Given the description of an element on the screen output the (x, y) to click on. 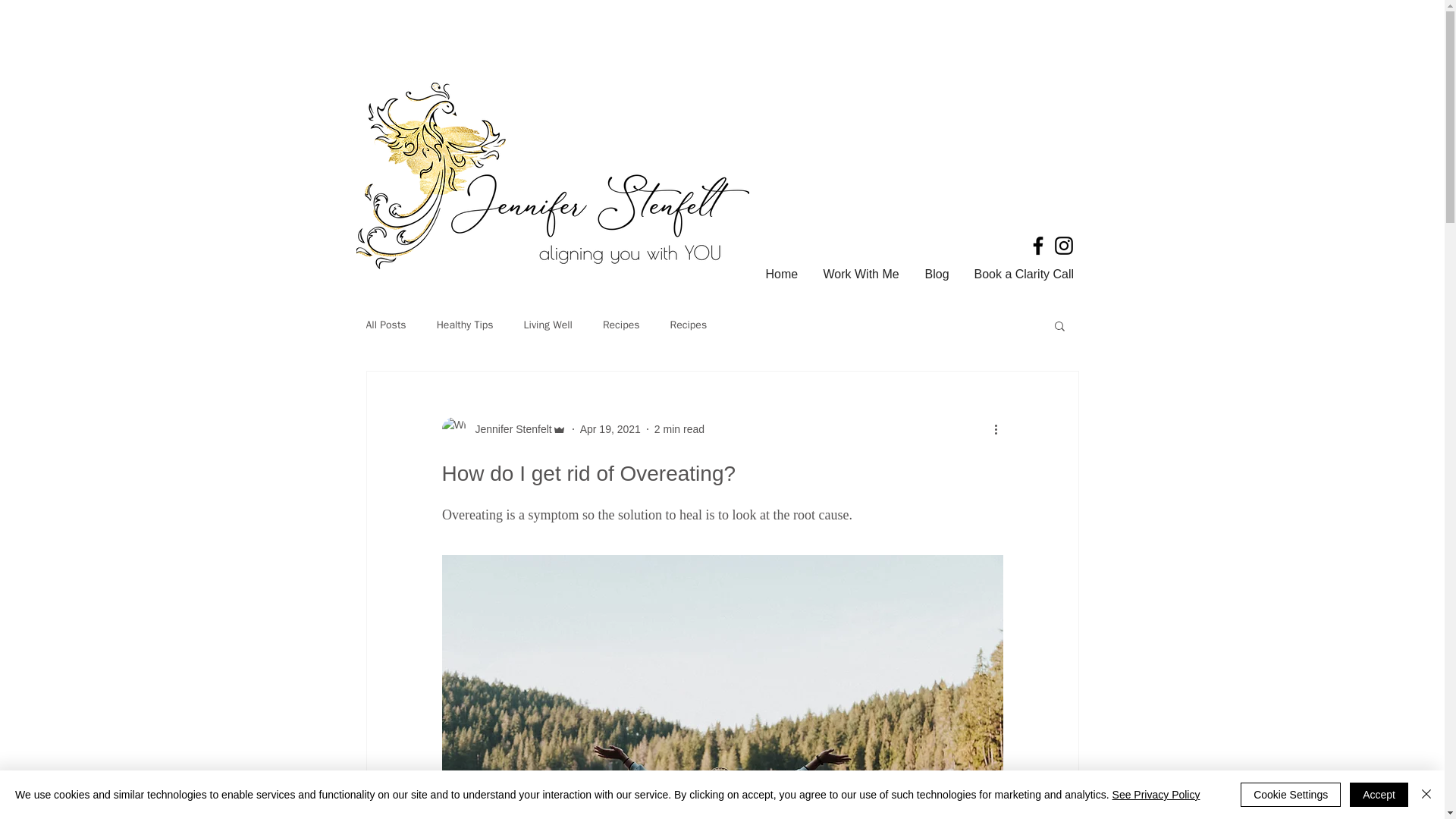
Book a Clarity Call (1024, 273)
Blog (937, 273)
Living Well (548, 325)
Work With Me (861, 273)
Jennifer Stenfelt (503, 428)
Healthy Tips (464, 325)
Home (782, 273)
All Posts (385, 325)
Recipes (621, 325)
Apr 19, 2021 (609, 428)
